Given the description of an element on the screen output the (x, y) to click on. 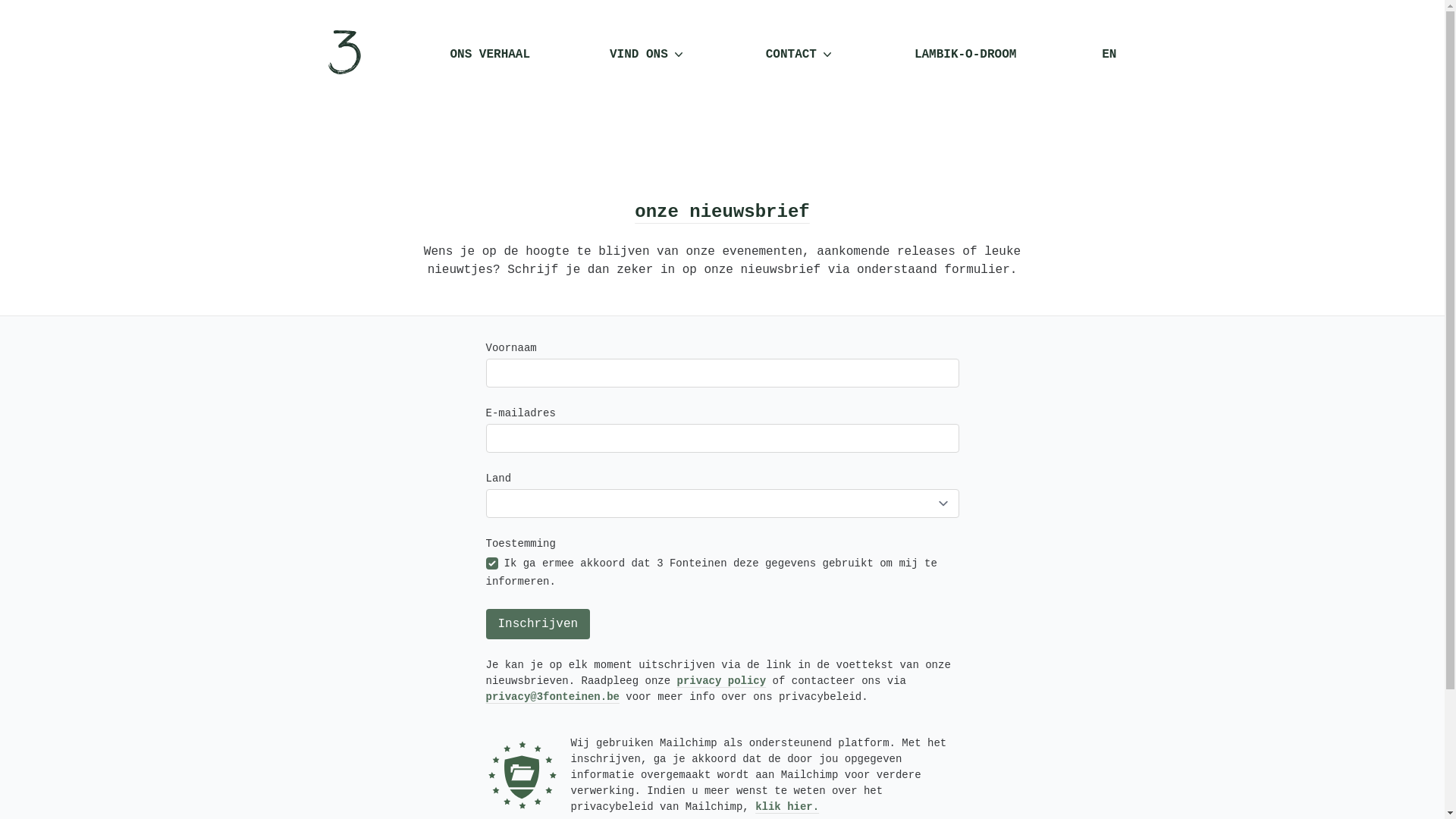
LAMBIK-O-DROOM Element type: text (965, 54)
EN Element type: text (1108, 54)
Inschrijven Element type: text (537, 623)
VIND ONS Element type: text (647, 54)
privacy policy Element type: text (721, 680)
ONS VERHAAL Element type: text (489, 54)
CONTACT Element type: text (799, 54)
klik hier. Element type: text (787, 806)
privacy@3fonteinen.be Element type: text (551, 696)
